Given the description of an element on the screen output the (x, y) to click on. 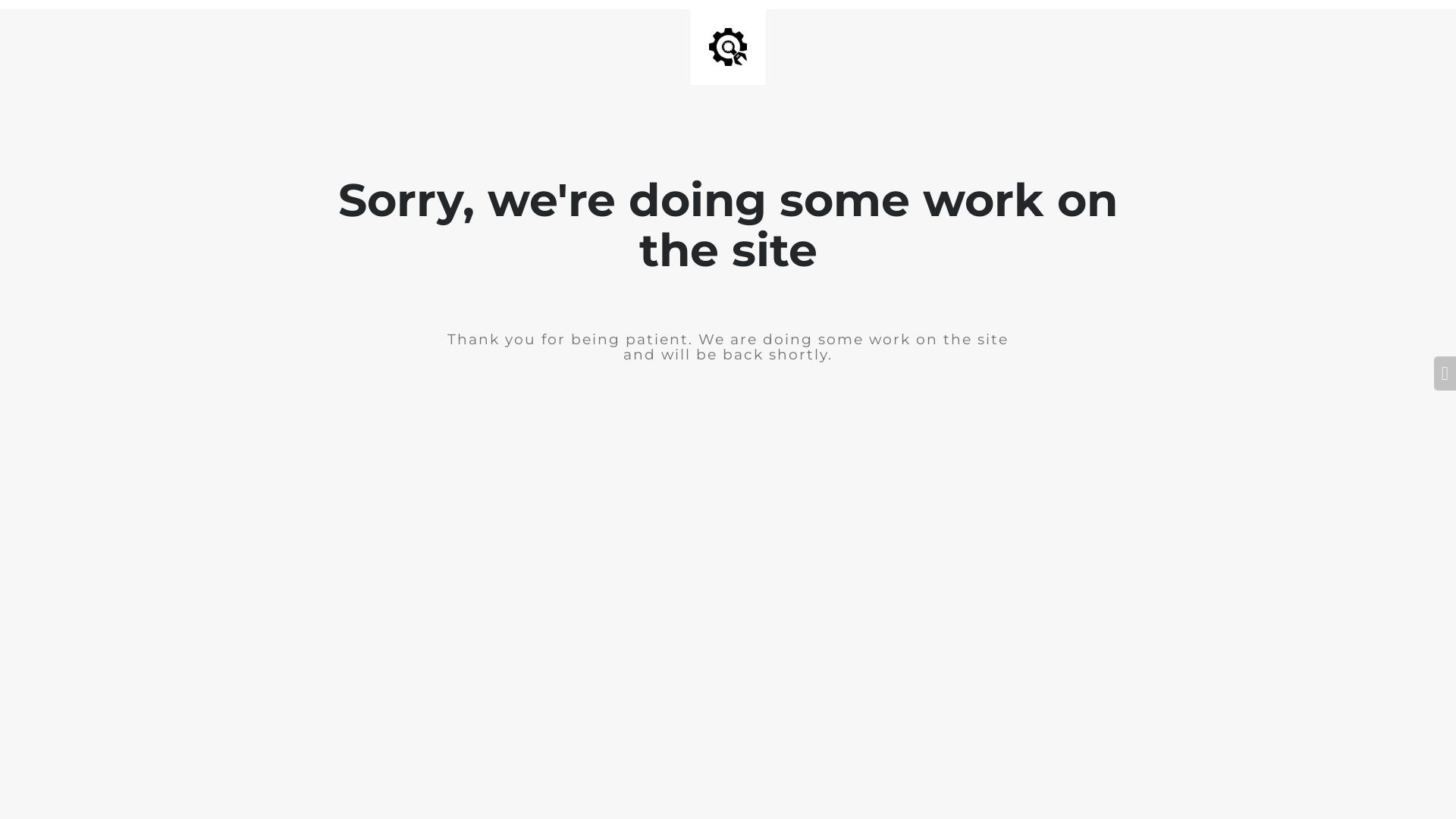
Site is Under Construction Element type: hover (727, 46)
